Given the description of an element on the screen output the (x, y) to click on. 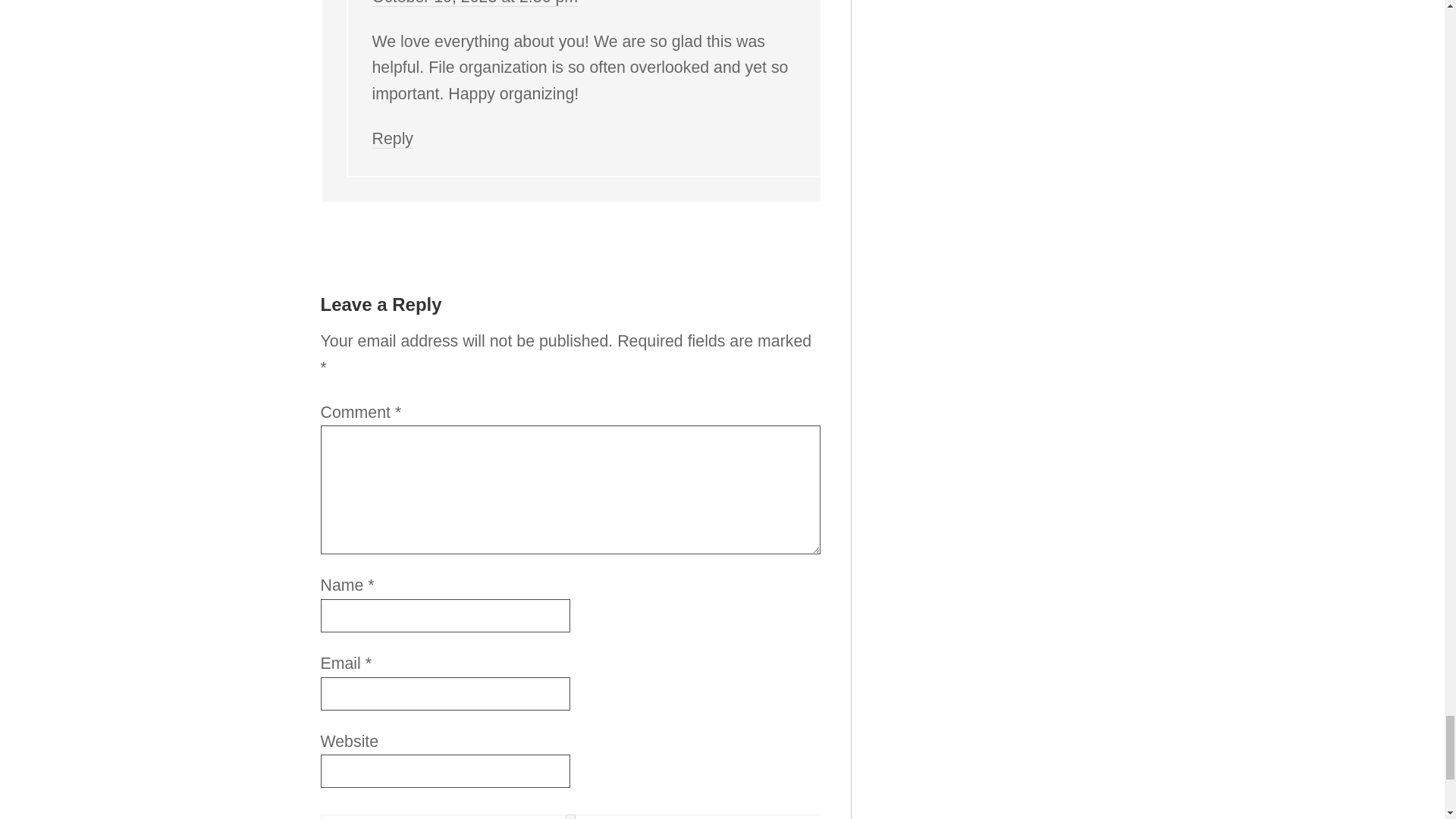
October 19, 2023 at 2:36 pm (474, 3)
Reply (392, 138)
